Given the description of an element on the screen output the (x, y) to click on. 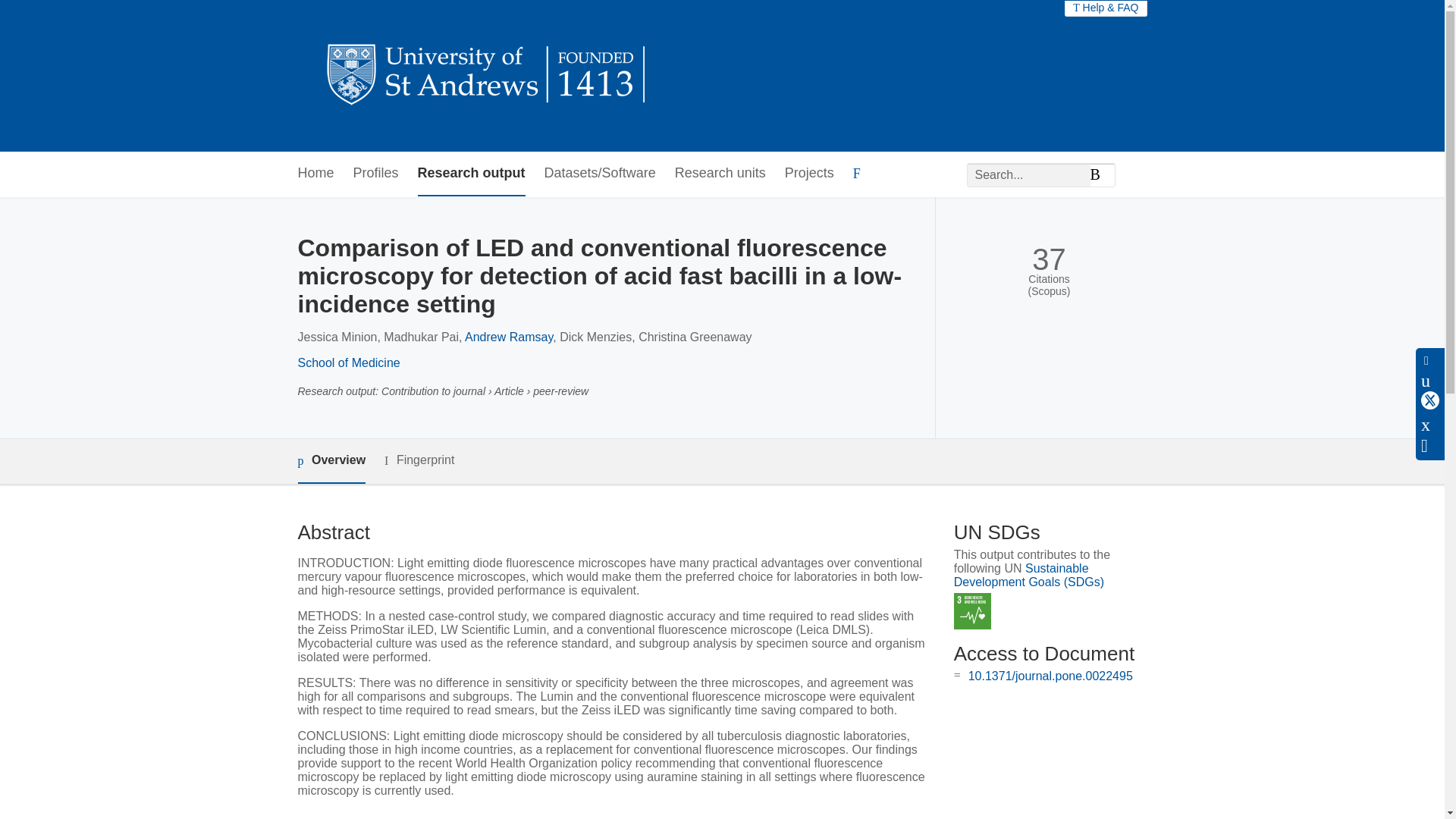
Fingerprint (419, 460)
University of St Andrews Research Portal Home (487, 75)
Overview (331, 461)
Research units (720, 173)
Research output (471, 173)
Profiles (375, 173)
Projects (809, 173)
School of Medicine (347, 362)
SDG 3 - Good Health and Well-being (972, 610)
Andrew Ramsay (508, 336)
